Given the description of an element on the screen output the (x, y) to click on. 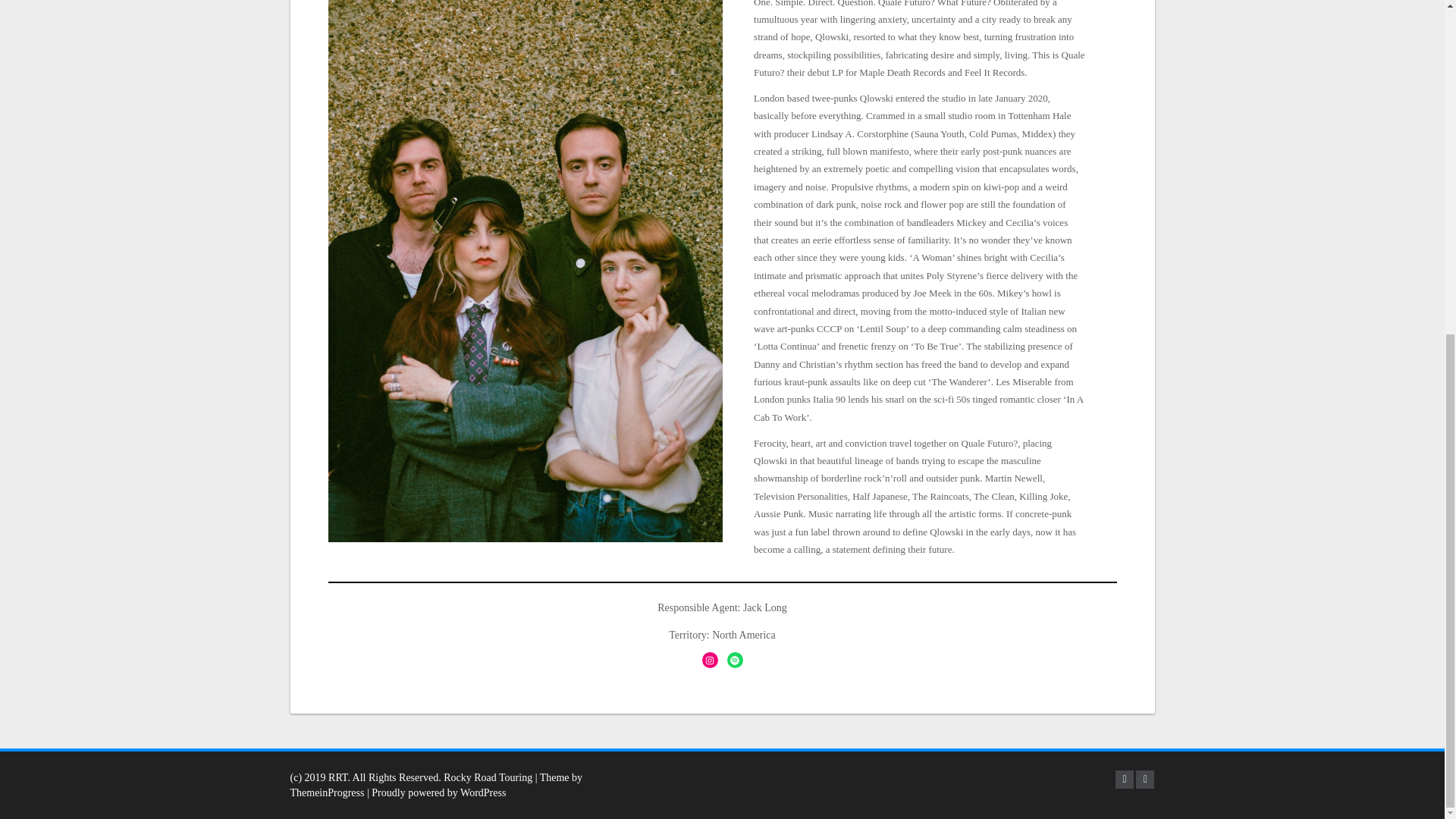
A Semantic Personal Publishing Platform (435, 792)
Spotify (734, 659)
Instagram (709, 659)
email (1144, 779)
instagram (1124, 779)
Jack Long (764, 607)
